Given the description of an element on the screen output the (x, y) to click on. 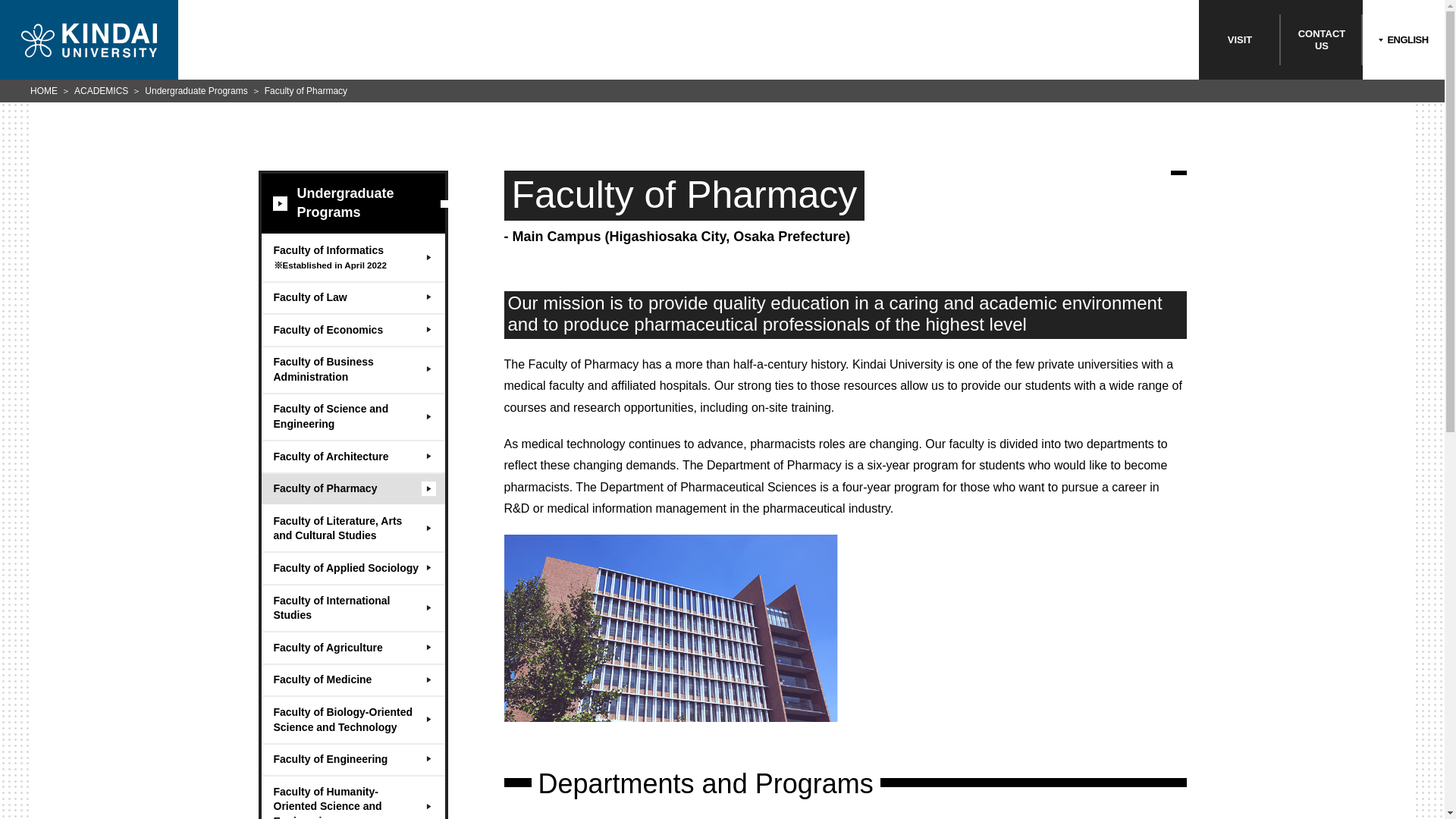
Undergraduate Programs (352, 203)
Faculty of Science and Engineering (352, 416)
Faculty of Law (352, 297)
Faculty of Economics (352, 328)
Faculty of Applied Sociology (352, 567)
Faculty of Business Administration (352, 369)
Faculty of Biology-Oriented Science and Technology (352, 718)
Faculty of Engineering (352, 758)
Faculty of Agriculture (352, 646)
ACADEMICS (101, 90)
HOME (44, 90)
Undergraduate Programs (195, 90)
Faculty of Architecture (1321, 39)
Faculty of Pharmacy (352, 455)
